Given the description of an element on the screen output the (x, y) to click on. 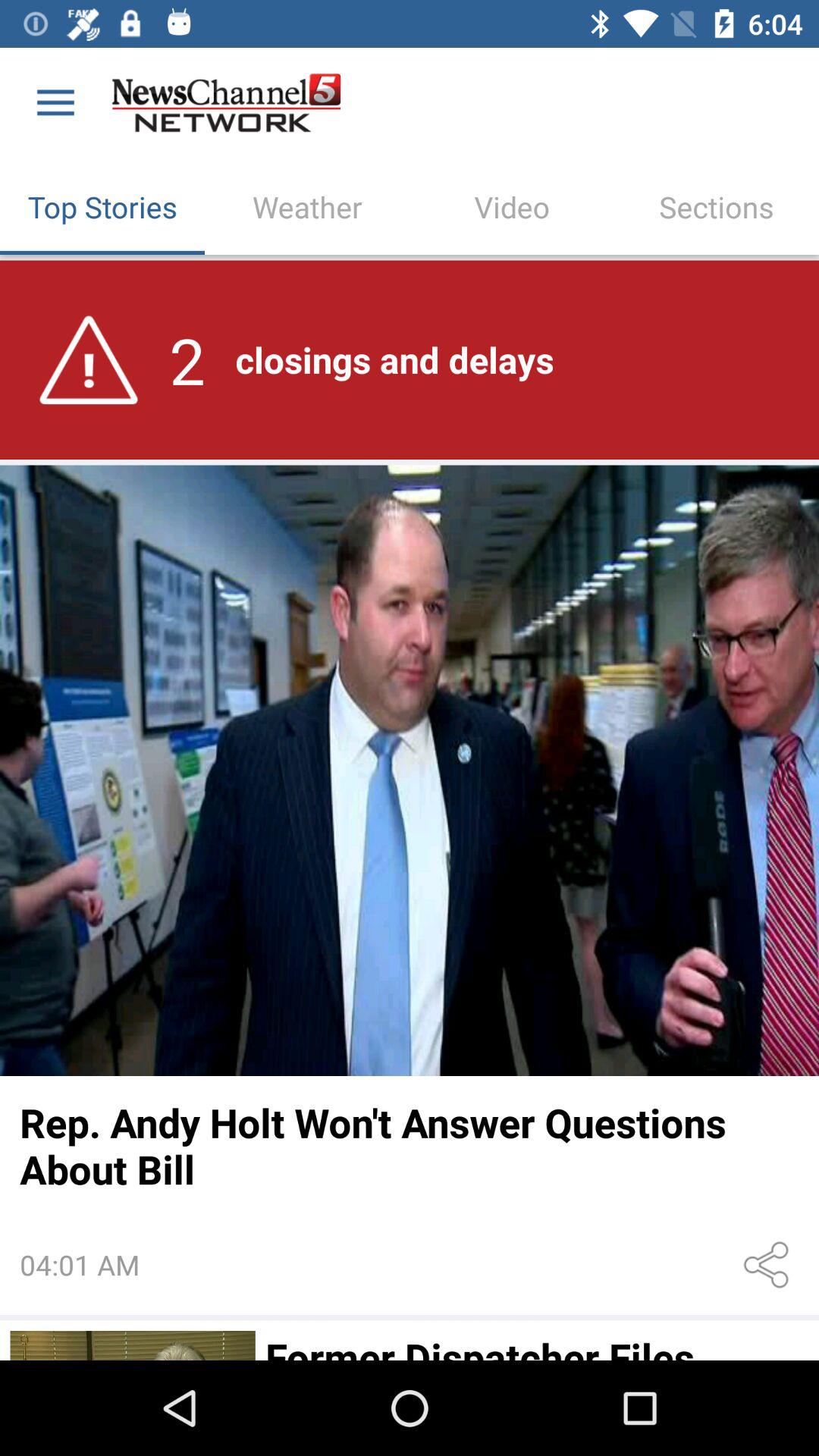
share the article (769, 1265)
